Given the description of an element on the screen output the (x, y) to click on. 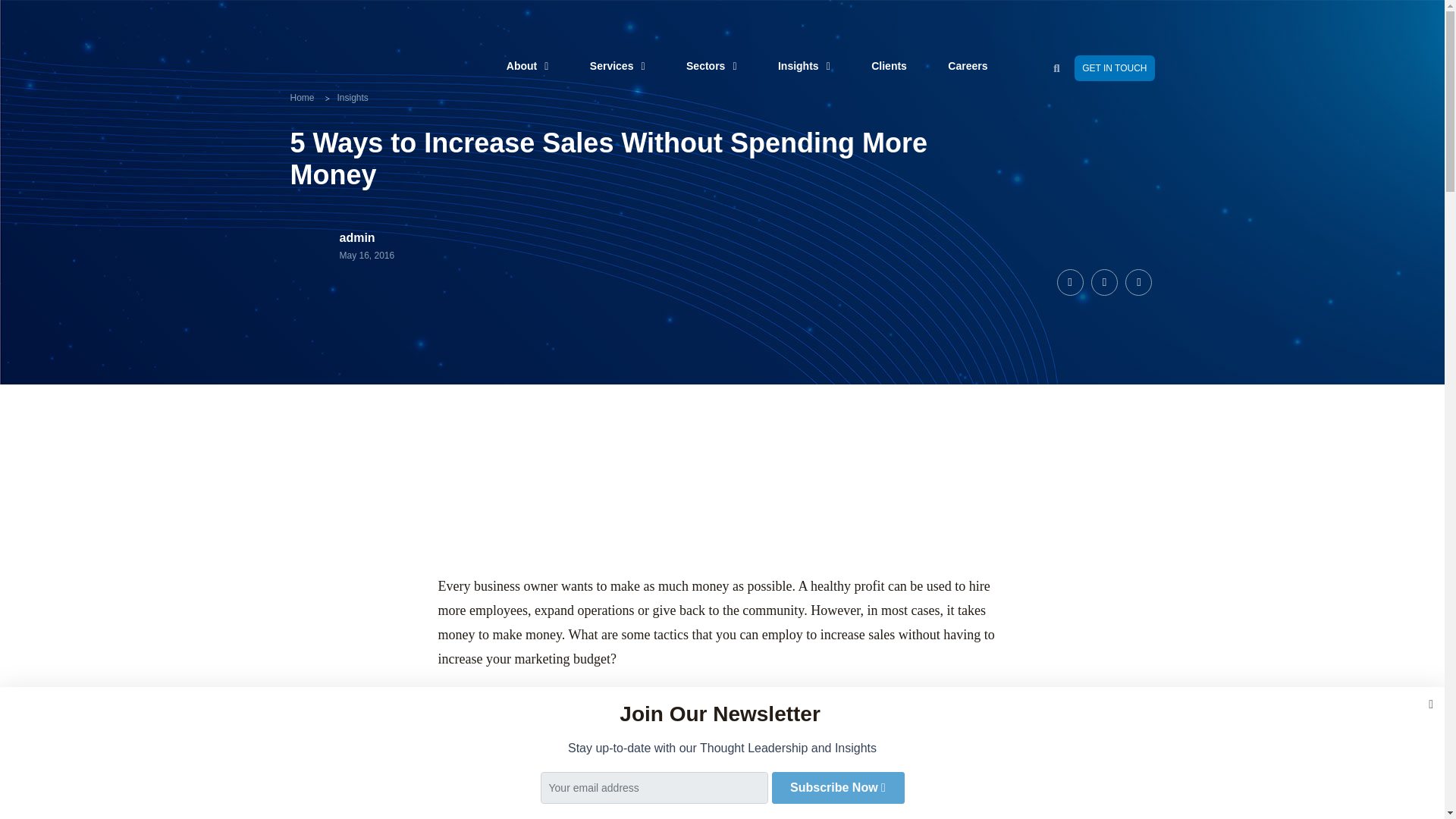
Share with Facebook (1070, 281)
Share With LinkedIn (1138, 281)
Share with LinkedIn (1104, 281)
